Given the description of an element on the screen output the (x, y) to click on. 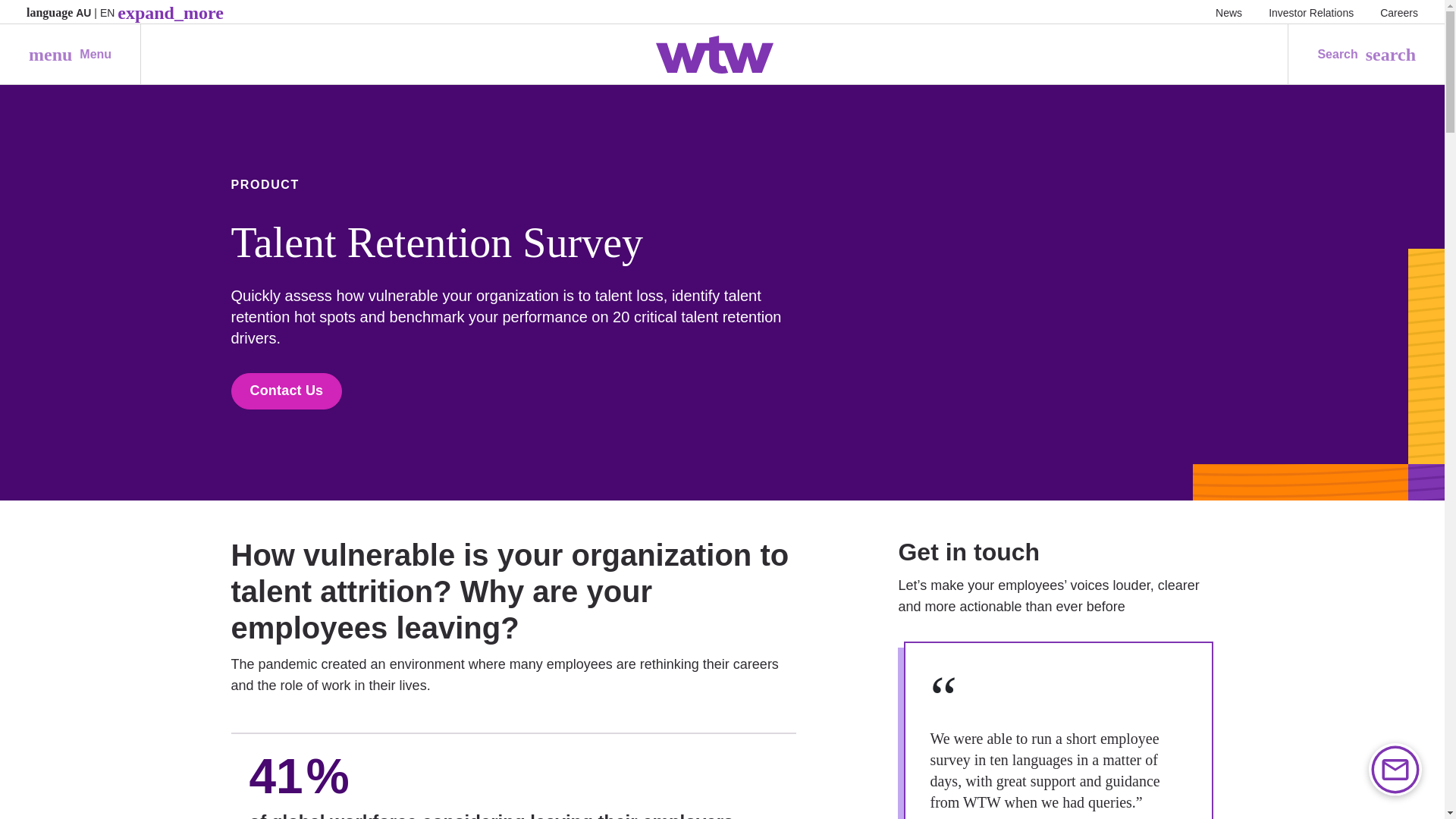
Careers (69, 54)
Investor Relations (1399, 12)
News (1311, 12)
